Given the description of an element on the screen output the (x, y) to click on. 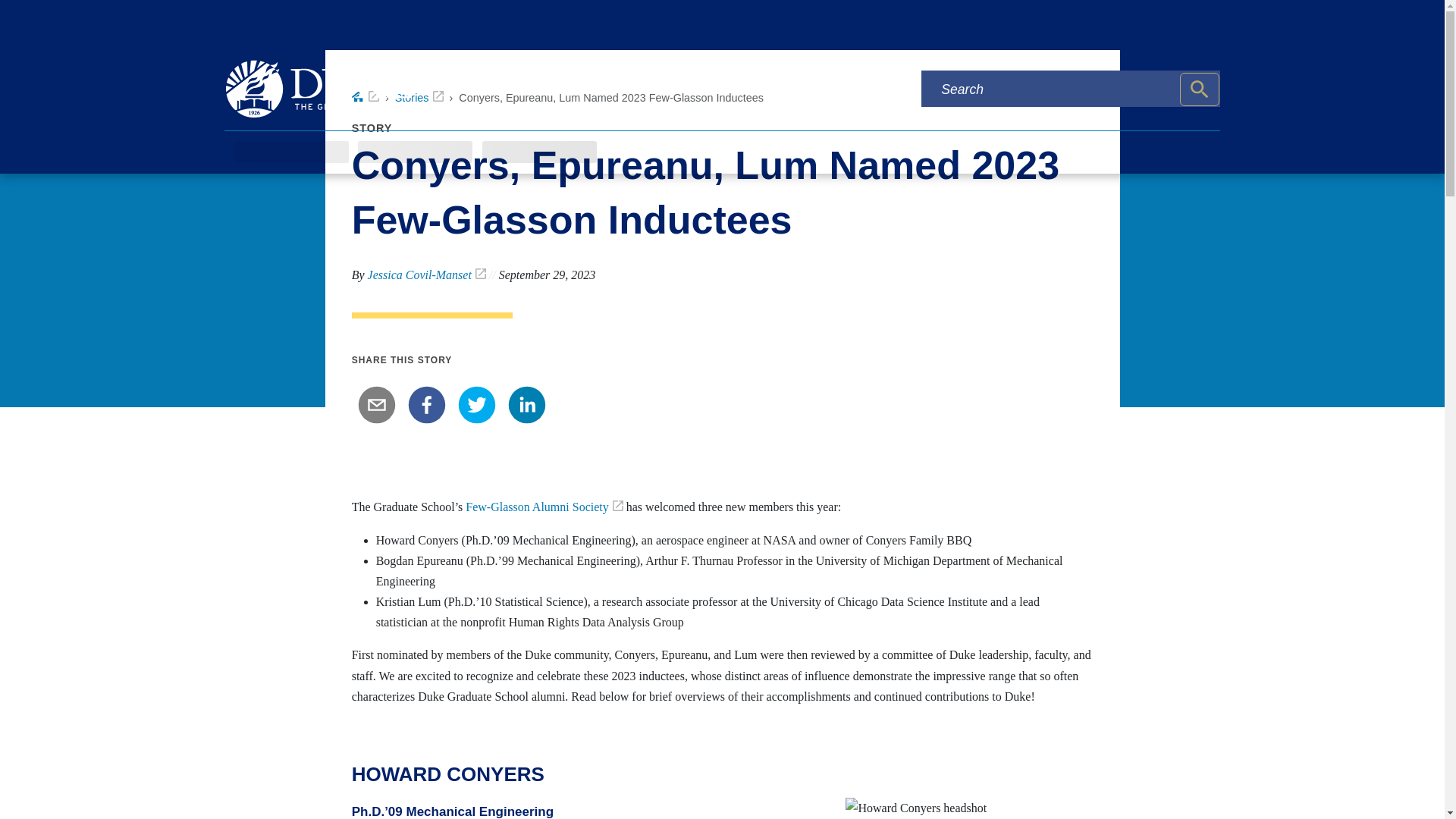
Few-Glasson Alumni Society (544, 506)
Jessica Covil-Manset (427, 274)
Home (365, 97)
Stories (419, 97)
